Given the description of an element on the screen output the (x, y) to click on. 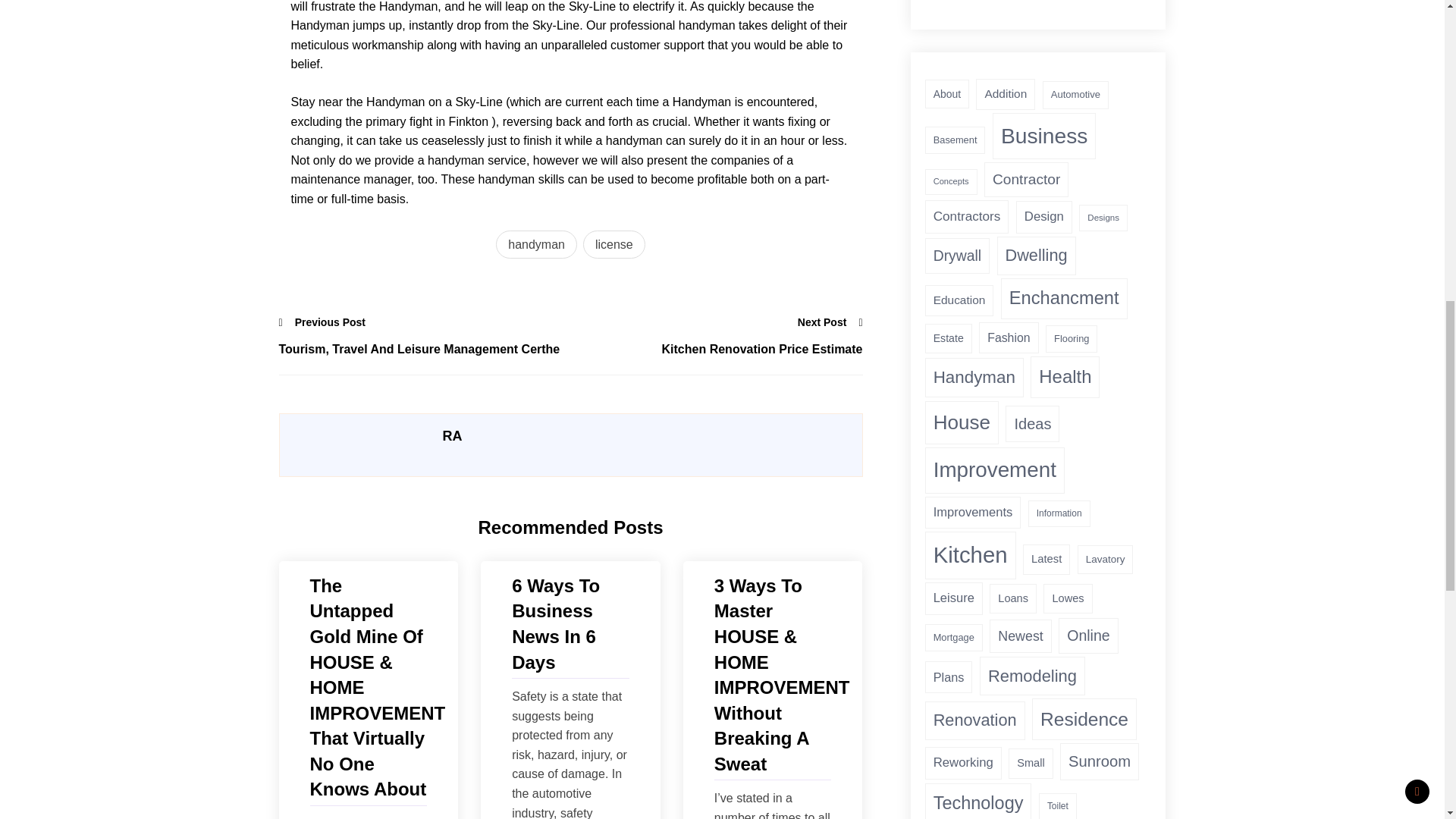
Addition (1005, 93)
Next Post (830, 321)
Tourism, Travel And Leisure Management Certhe (424, 349)
6 Ways To Business News In 6 Days (570, 623)
Kitchen Renovation Price Estimate (715, 349)
handyman (536, 244)
Previous Post (322, 321)
Basement (954, 140)
license (614, 244)
Automotive (1075, 94)
